Given the description of an element on the screen output the (x, y) to click on. 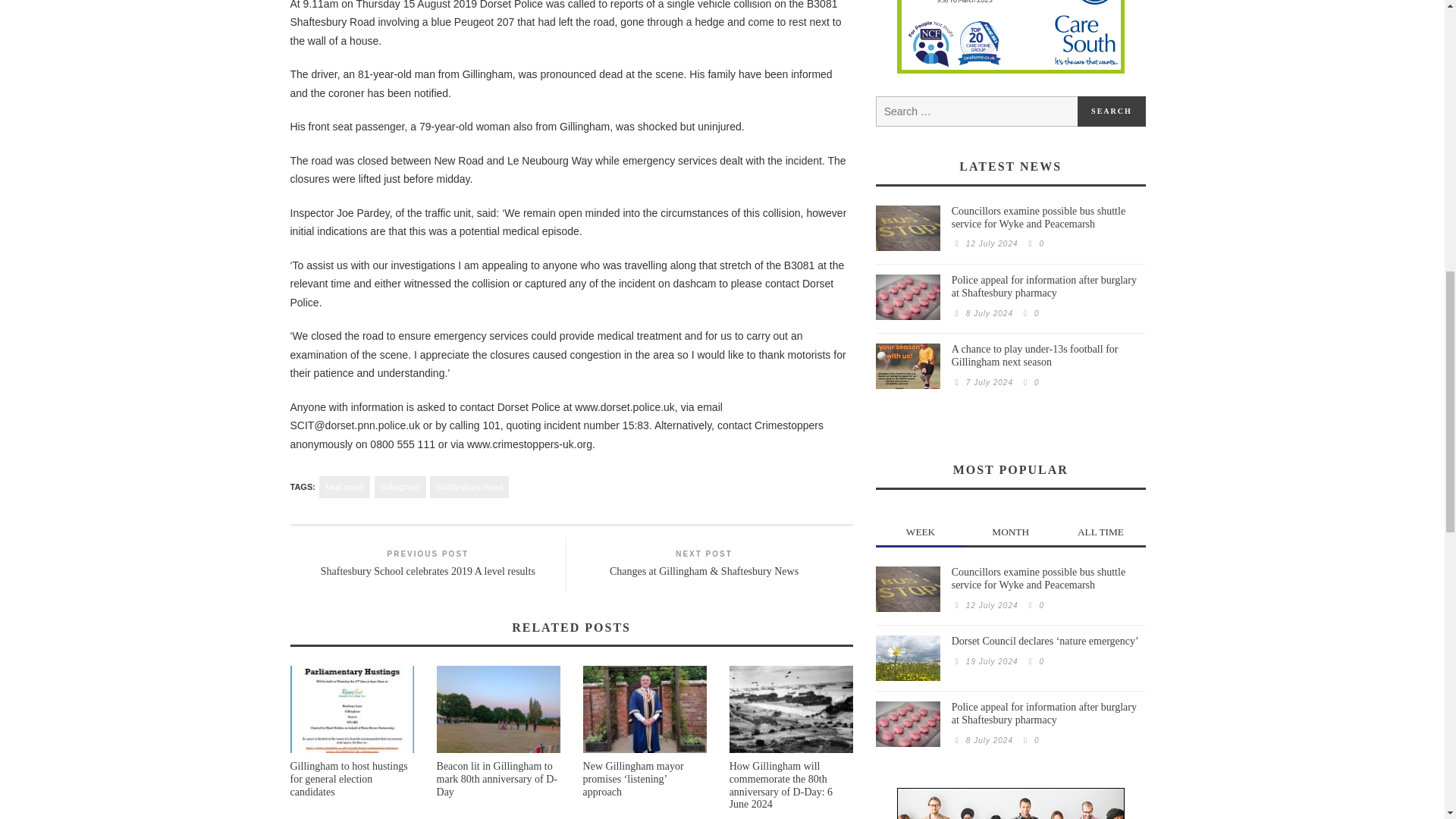
Search (1111, 111)
Search (1111, 111)
